Given the description of an element on the screen output the (x, y) to click on. 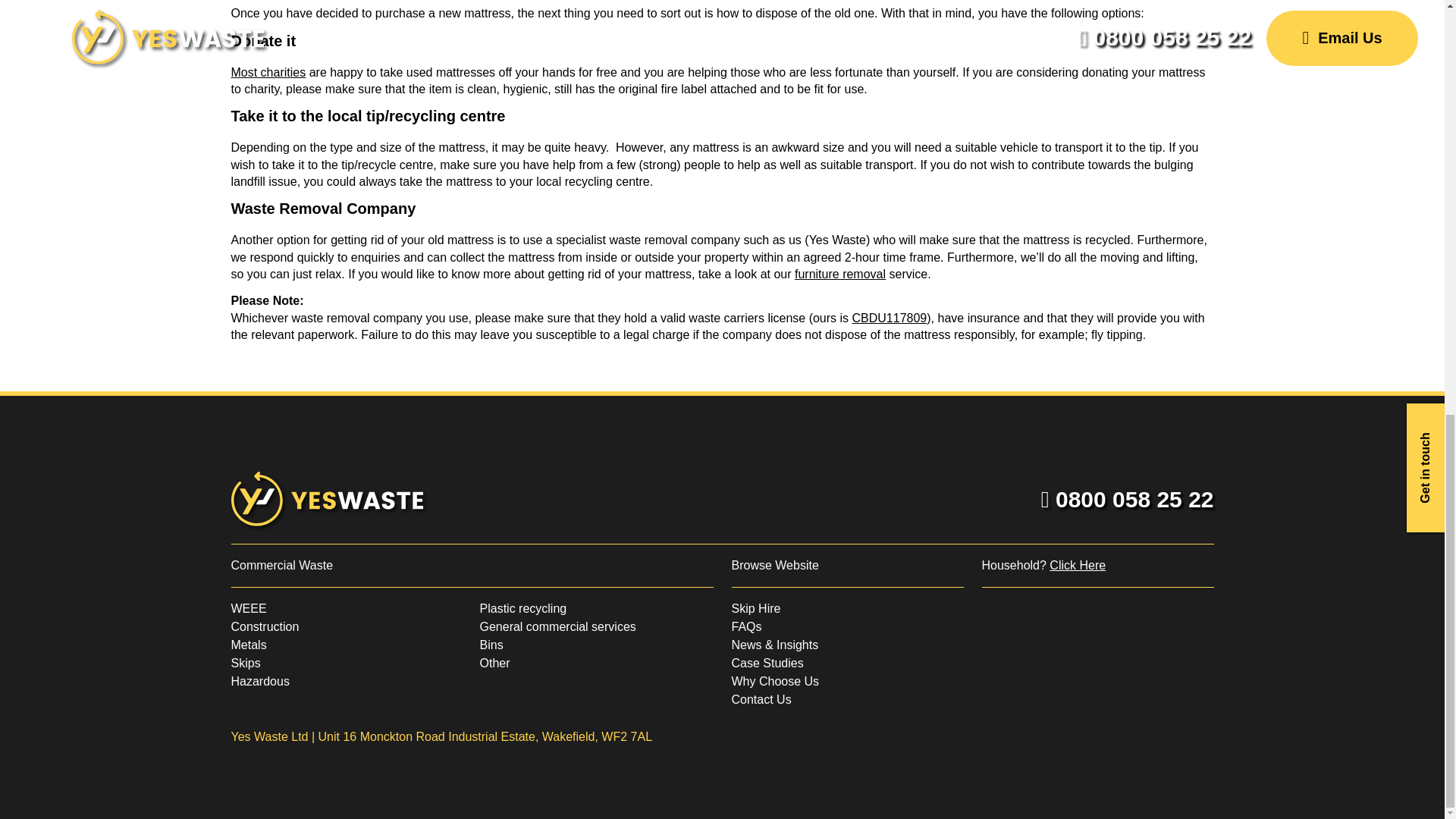
Yes Waste Waste Carriers License (889, 318)
Plastic recycling (522, 608)
Bins (490, 644)
Charities in Yorkshire and The Humber (267, 72)
Other (494, 662)
Skip Hire (755, 608)
0800 058 25 22 (1127, 498)
Metals (248, 644)
CBDU117809 (889, 318)
Construction (264, 626)
